Given the description of an element on the screen output the (x, y) to click on. 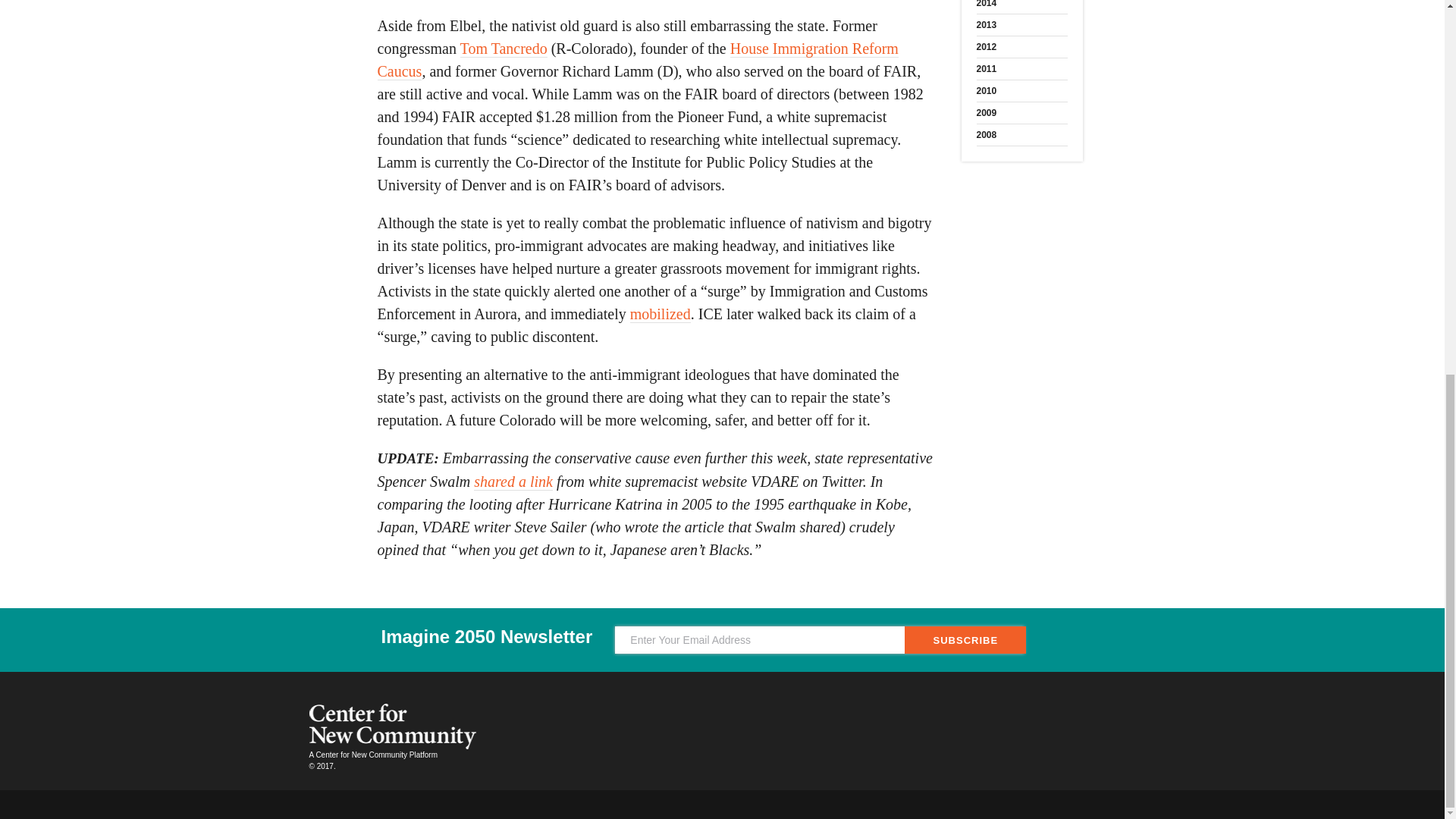
mobilized (660, 313)
House Immigration Reform Caucus (637, 60)
CNC (392, 726)
Subscribe (965, 639)
Tom Tancredo (503, 48)
